Given the description of an element on the screen output the (x, y) to click on. 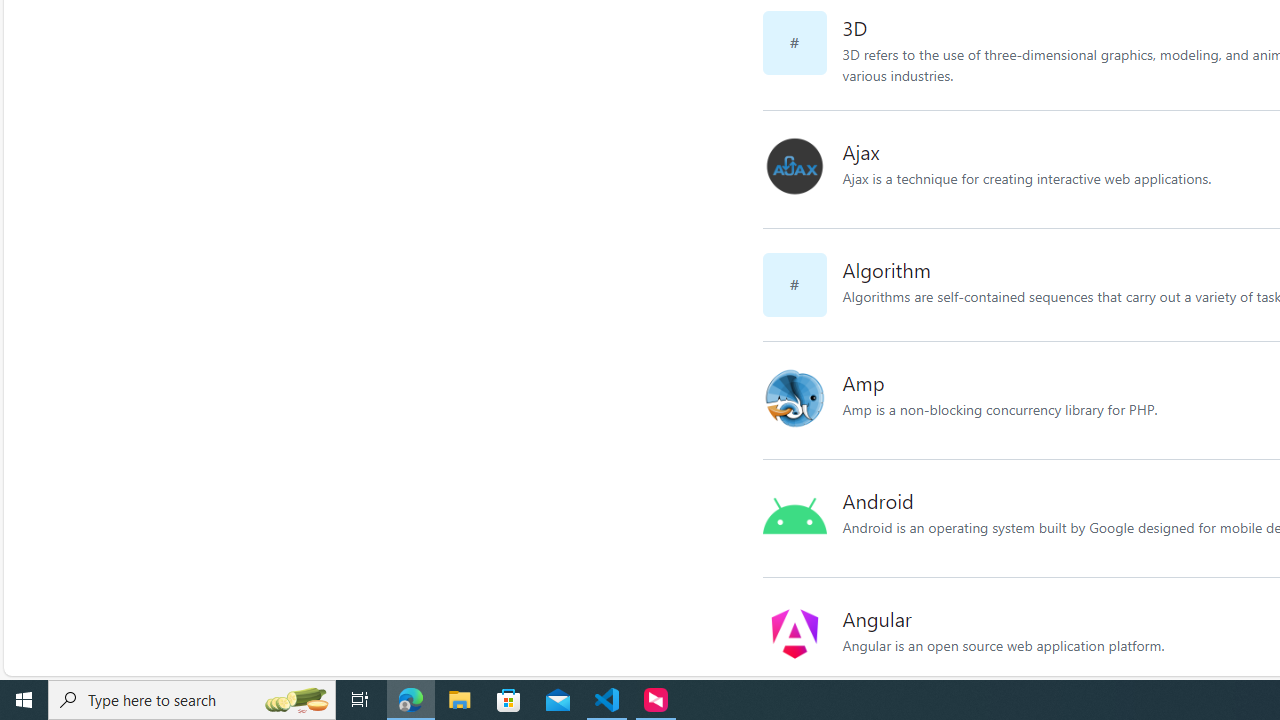
android (793, 515)
angular (802, 636)
amphp (802, 399)
angular (793, 633)
ajax (793, 166)
# (802, 284)
android (802, 517)
ajax (802, 169)
amphp (793, 397)
